Given the description of an element on the screen output the (x, y) to click on. 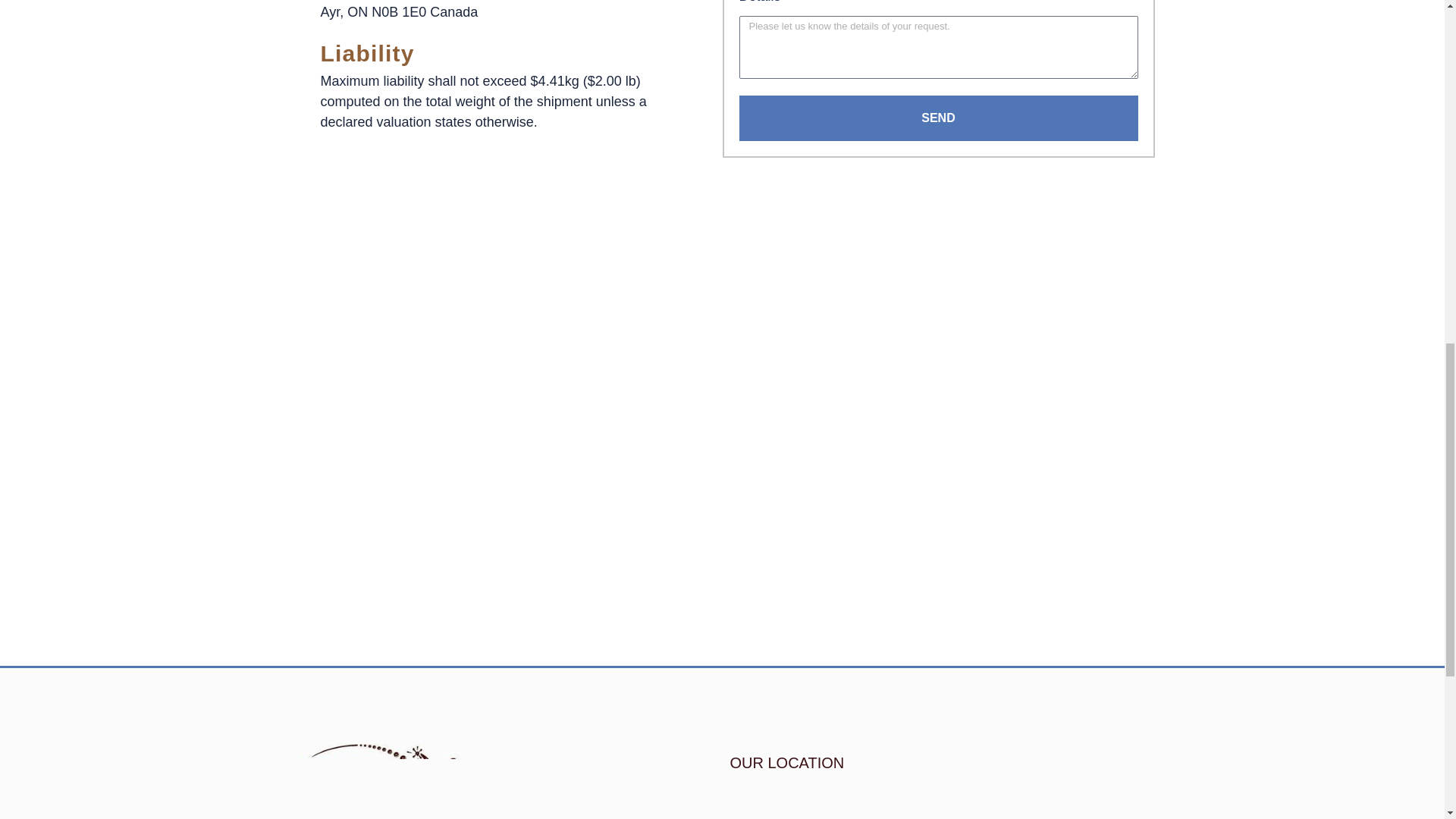
SEND (937, 117)
team logistics (938, 806)
